Given the description of an element on the screen output the (x, y) to click on. 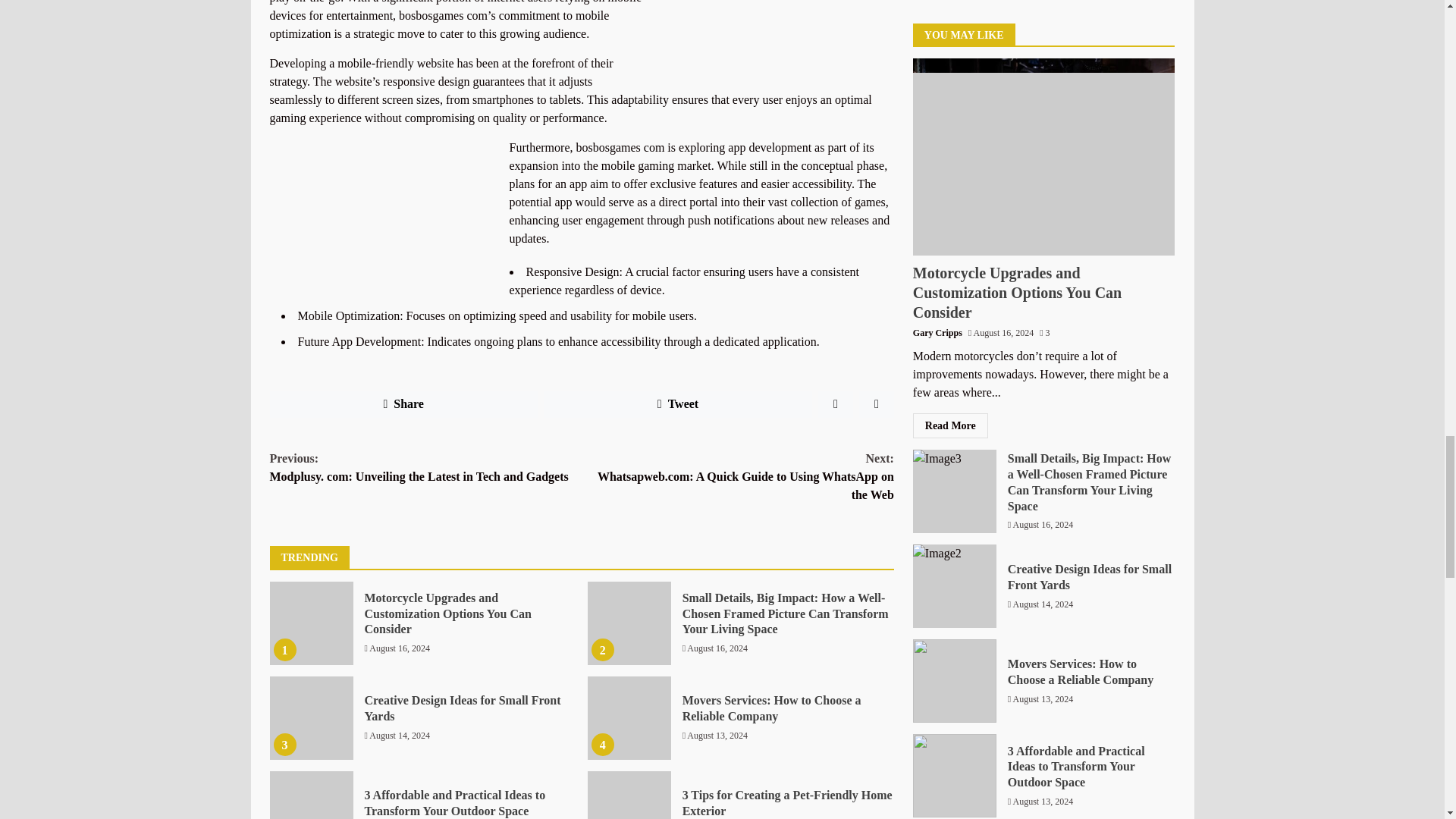
Creative Design Ideas for Small Front Yards (462, 707)
Share (403, 403)
Movers Services: How to Choose a Reliable Company (629, 718)
Tweet (677, 403)
Movers Services: How to Choose a Reliable Company (771, 707)
